Given the description of an element on the screen output the (x, y) to click on. 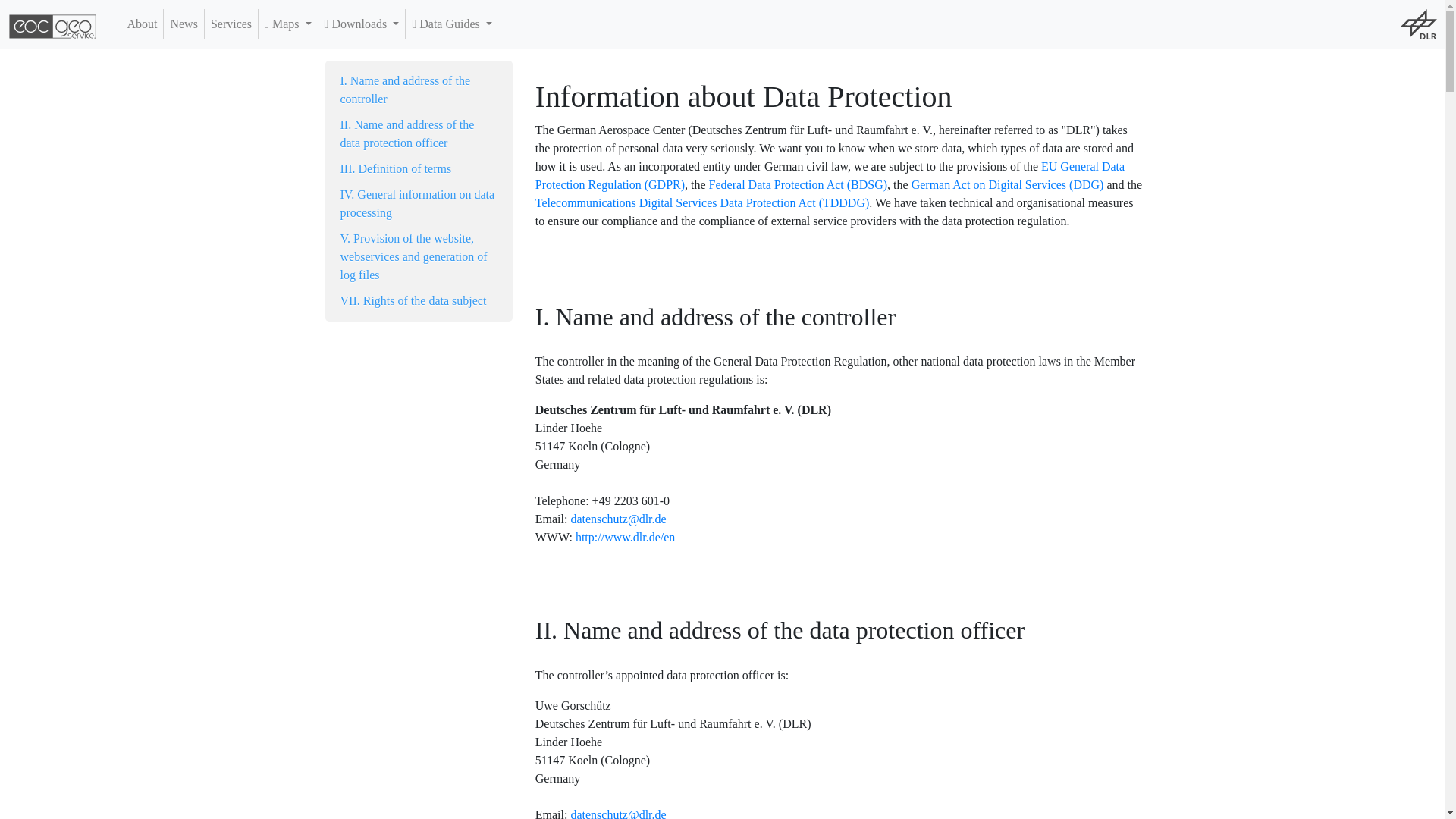
Services (231, 24)
Maps (288, 24)
News (183, 24)
About (141, 24)
